Given the description of an element on the screen output the (x, y) to click on. 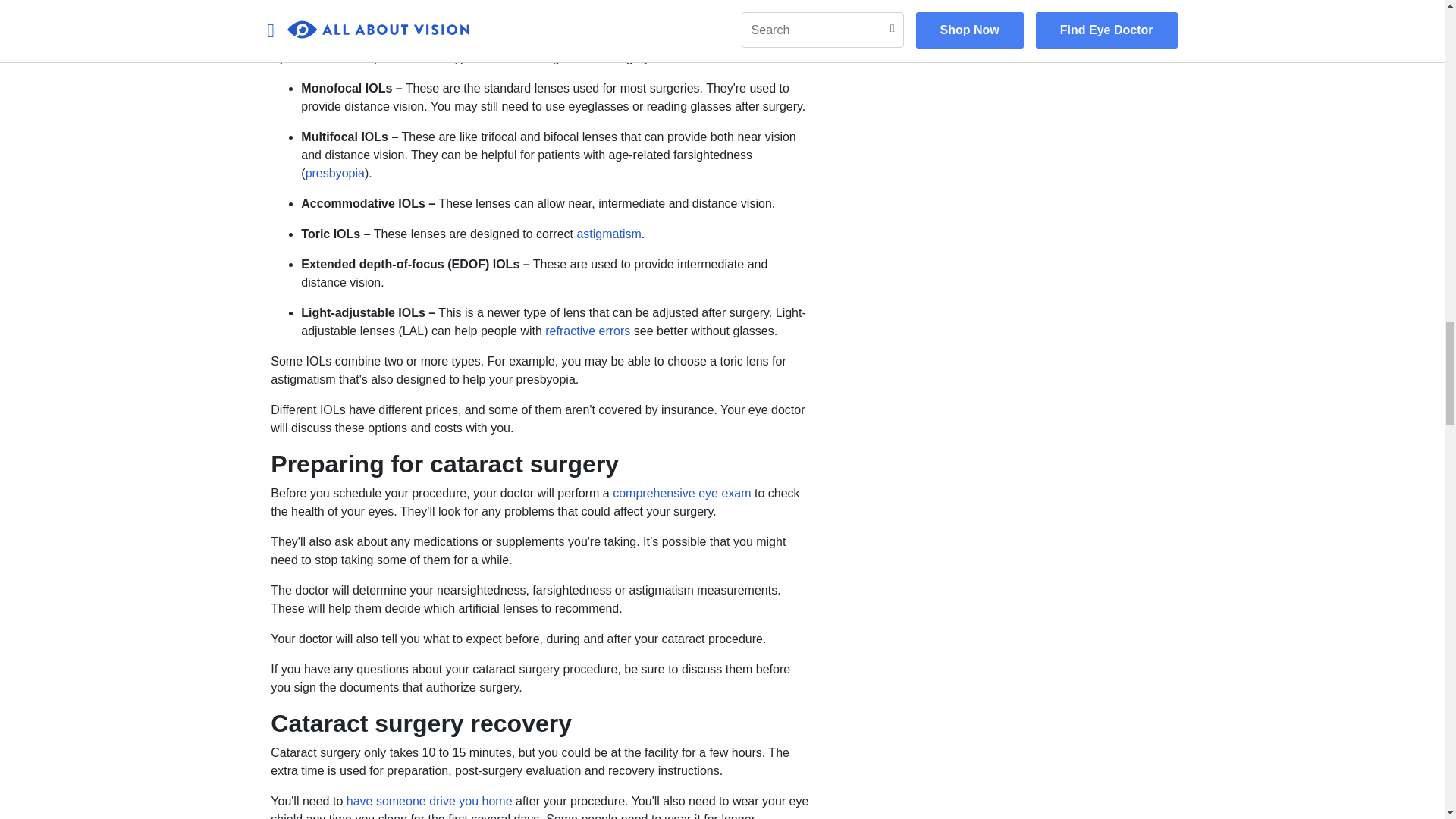
refractive errors (587, 330)
presbyopia (335, 173)
astigmatism (608, 233)
have someone drive you home (429, 800)
comprehensive eye exam (681, 492)
